Given the description of an element on the screen output the (x, y) to click on. 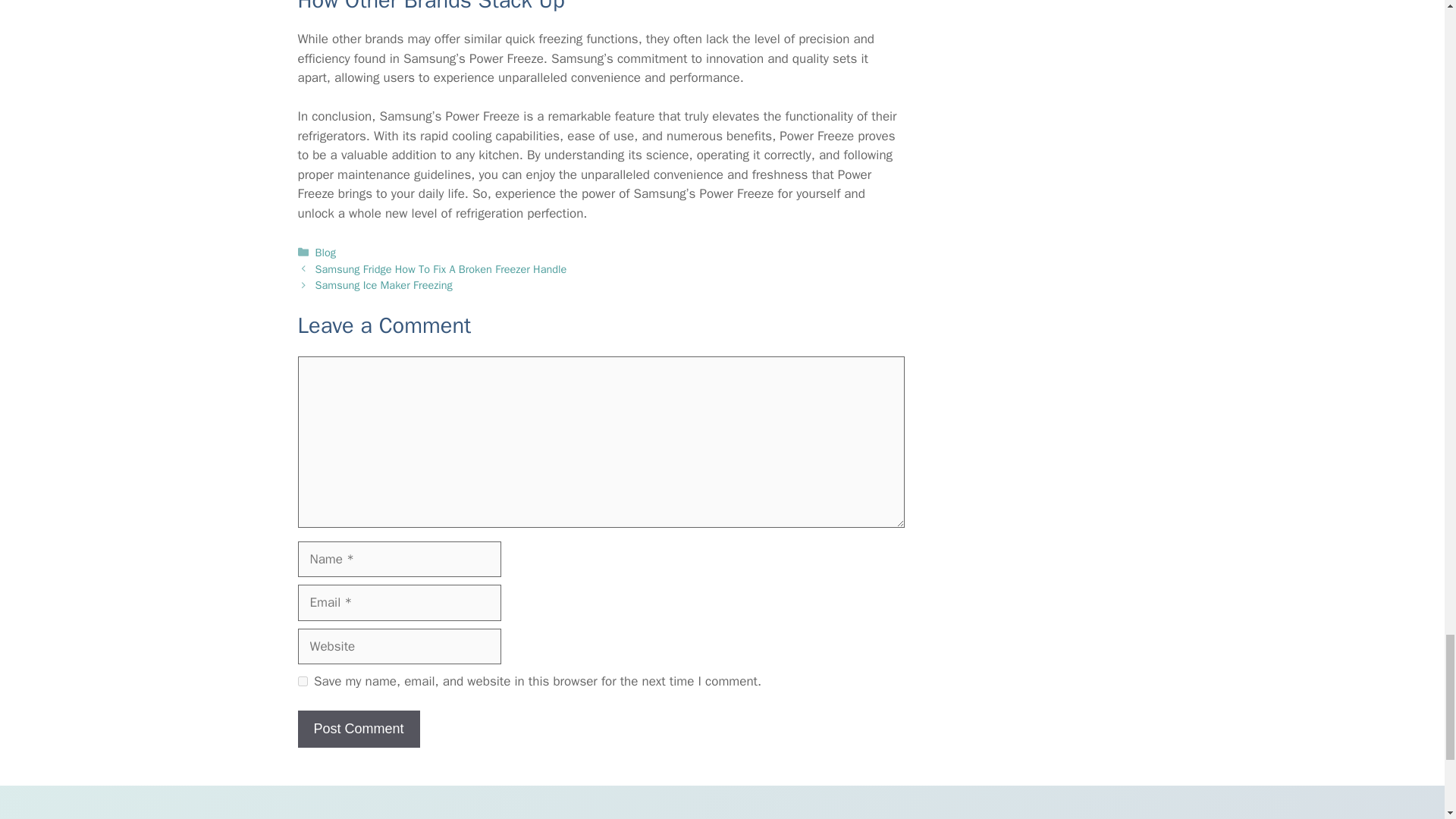
Samsung Ice Maker Freezing (383, 284)
Post Comment (358, 728)
Samsung Fridge How To Fix A Broken Freezer Handle (441, 269)
yes (302, 681)
Blog (325, 252)
Post Comment (358, 728)
